Given the description of an element on the screen output the (x, y) to click on. 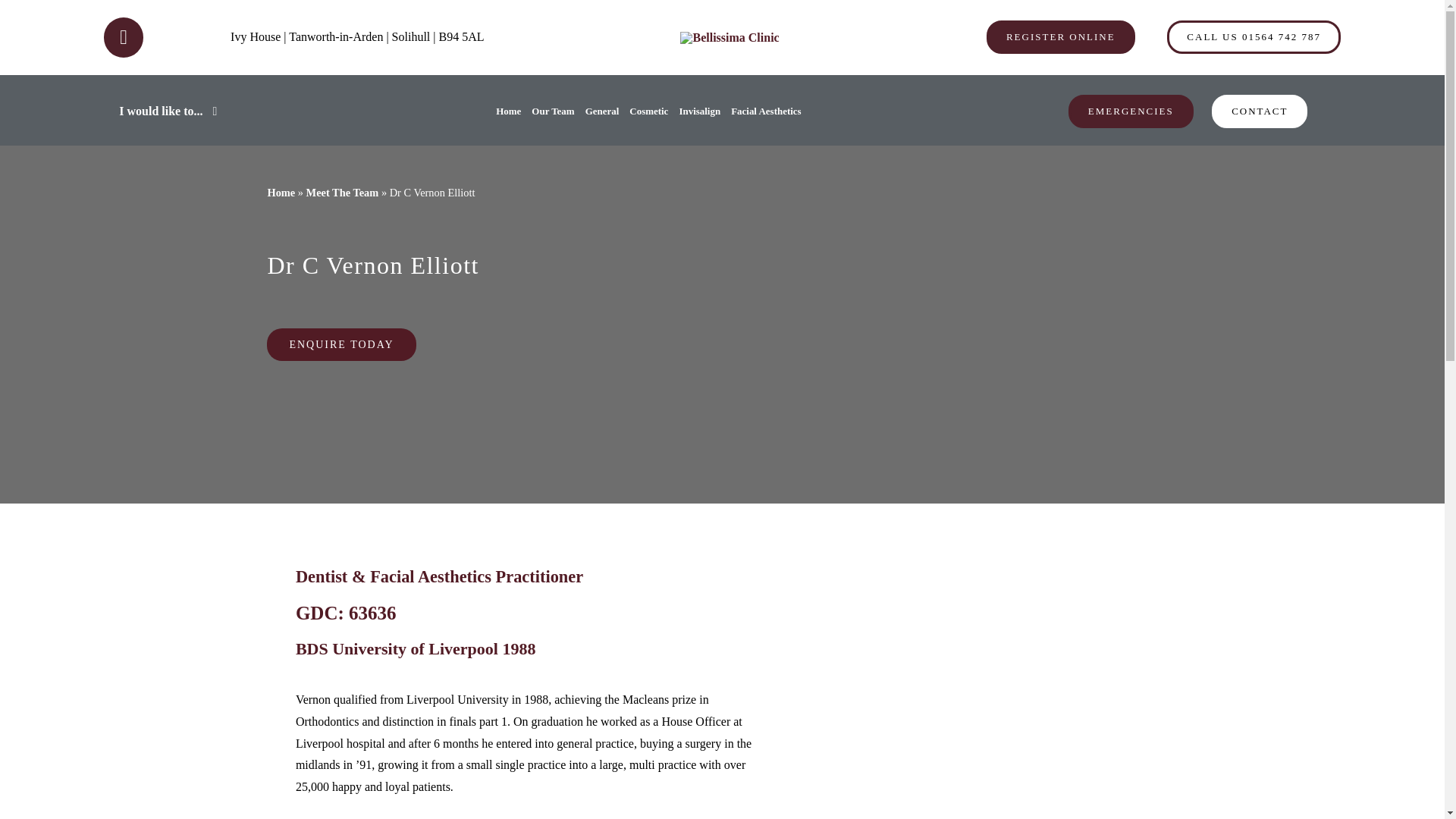
I would like to... (169, 111)
REGISTER ONLINE (1061, 37)
Cosmetic (648, 111)
CONTACT (1259, 111)
Home (280, 192)
EMERGENCIES (1130, 111)
CALL US 01564 742 787 (1253, 37)
Our Team (552, 111)
Meet The Team (341, 192)
ENQUIRE TODAY (340, 344)
Facial Aesthetics (765, 111)
Invisalign (699, 111)
